Given the description of an element on the screen output the (x, y) to click on. 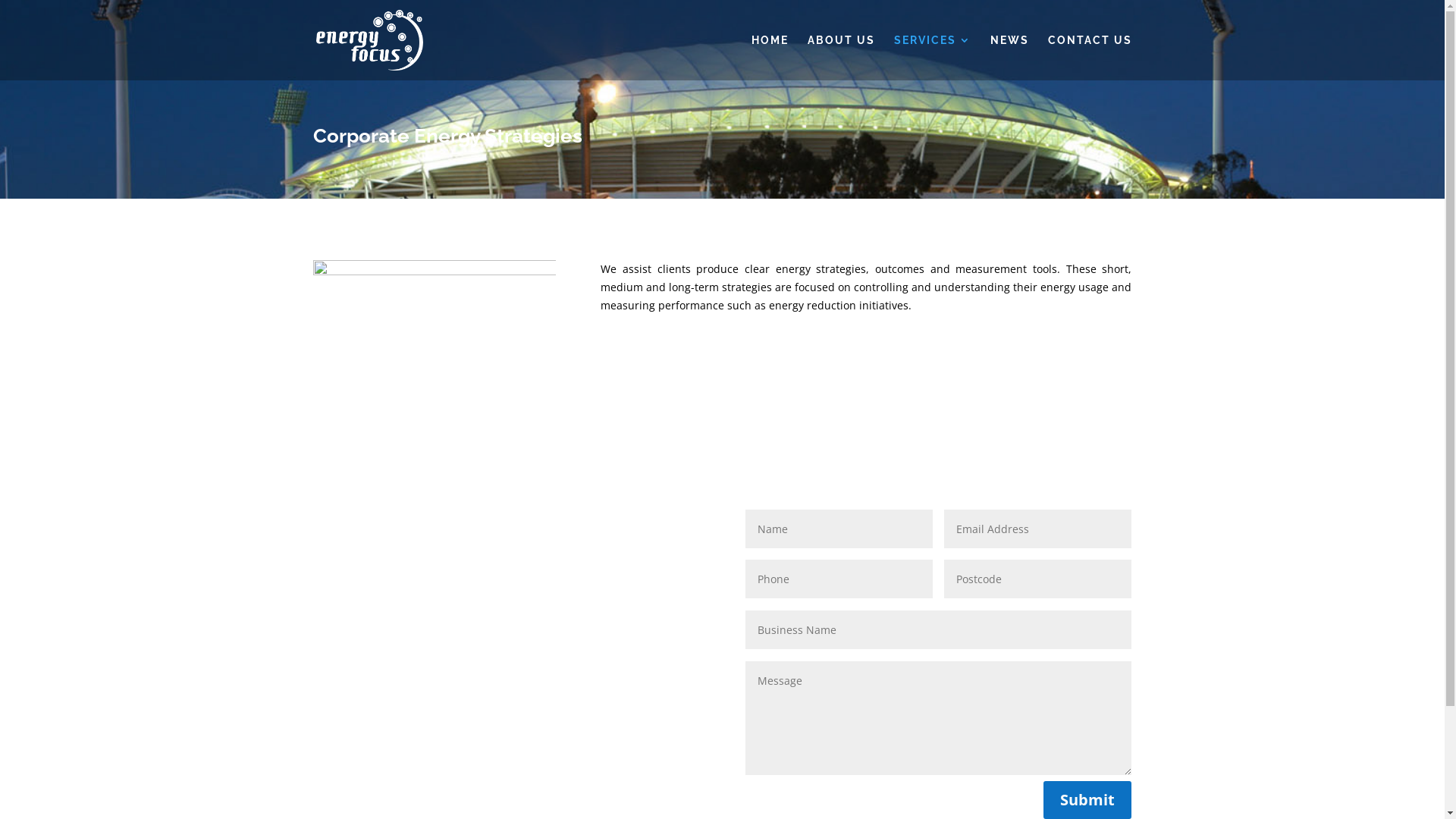
CONTACT US Element type: text (1090, 57)
HOME Element type: text (768, 57)
Only numbers allowed. Element type: hover (1037, 578)
ABOUT US Element type: text (840, 57)
NEWS Element type: text (1009, 57)
Only numbers allowed. Element type: hover (838, 578)
SERVICES Element type: text (931, 57)
